Given the description of an element on the screen output the (x, y) to click on. 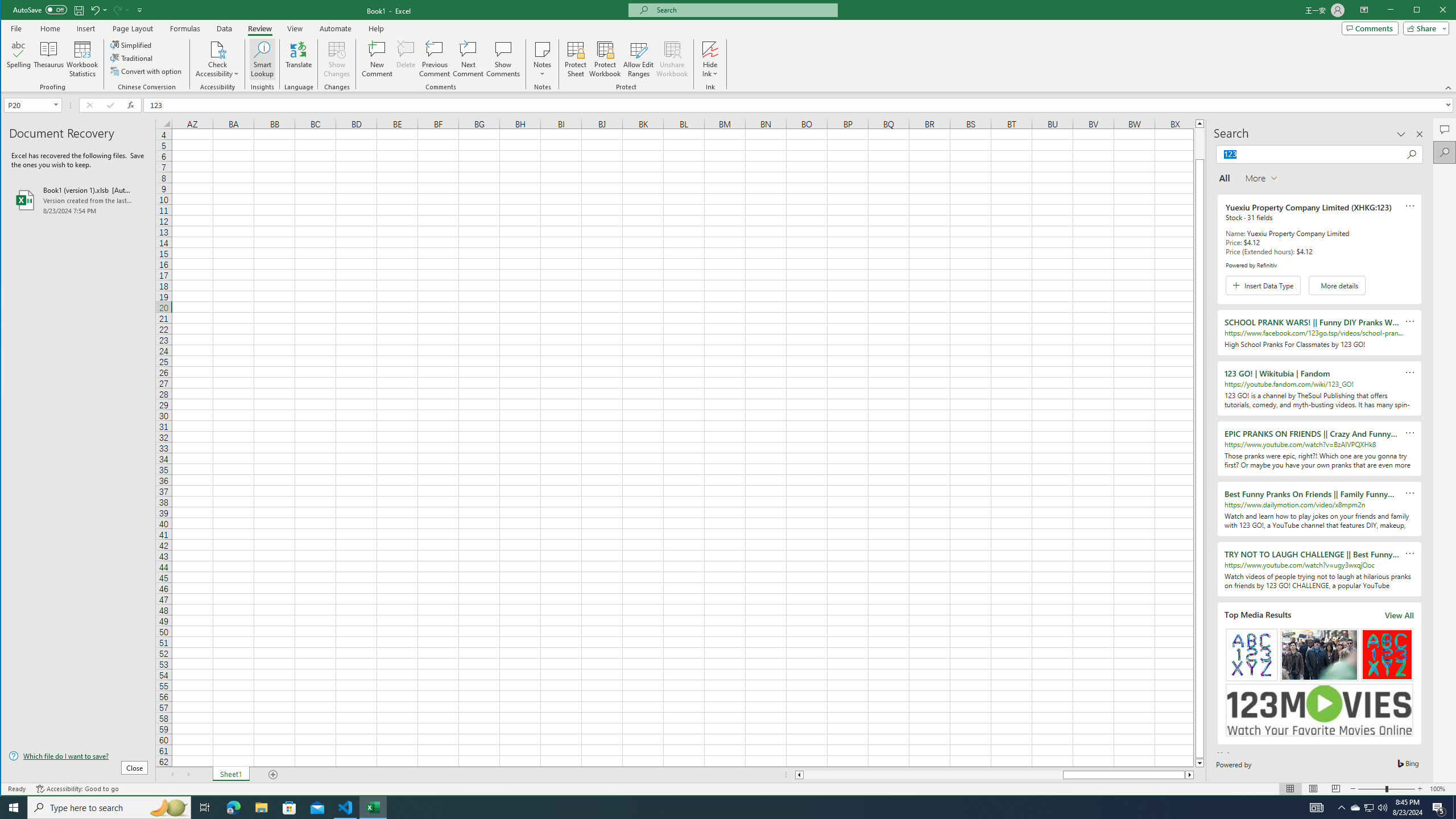
Show Comments (1355, 807)
Search highlights icon opens search home window (502, 59)
Show Changes (167, 807)
Spelling... (335, 59)
